Given the description of an element on the screen output the (x, y) to click on. 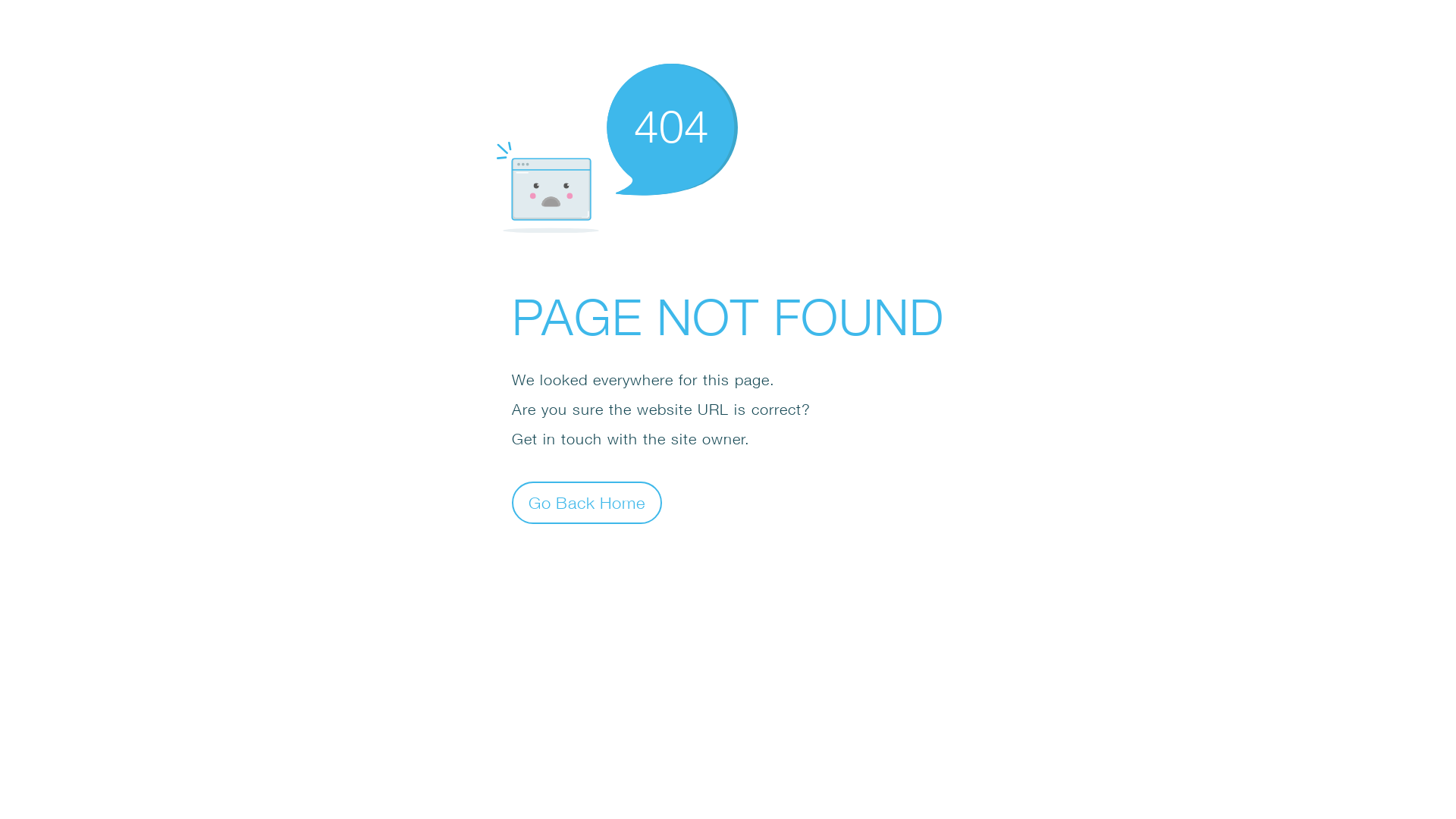
Go Back Home Element type: text (586, 502)
